Given the description of an element on the screen output the (x, y) to click on. 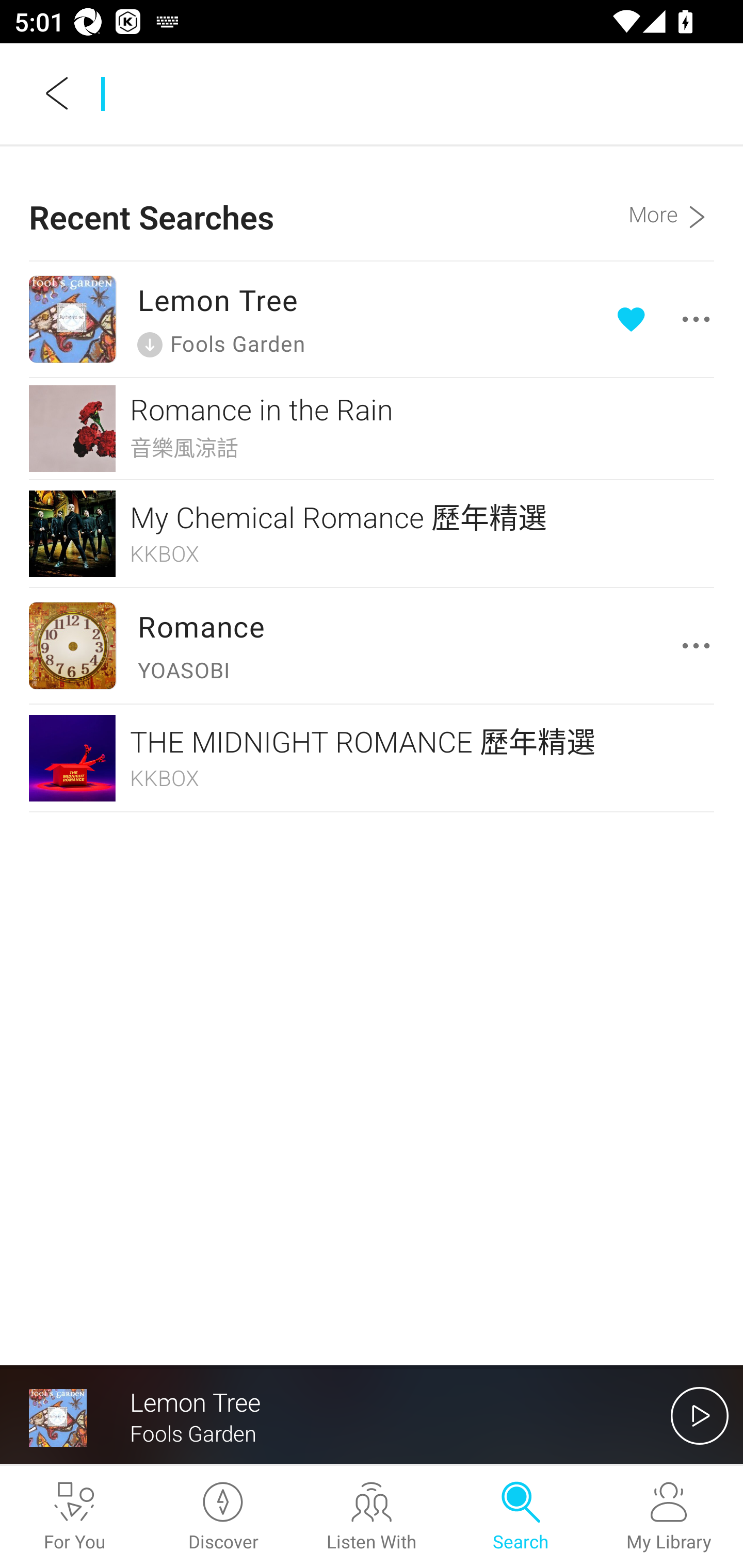
Back,outside of the list (57, 93)
More Recent Searches More (671, 202)
Lemon Tree 已下載 Fools Garden 更多操作選項 (371, 318)
更多操作選項 (667, 318)
Romance in the Rain 音樂風涼話 (371, 428)
My Chemical Romance 歷年精選 KKBOX (371, 532)
Romance YOASOBI 更多操作選項 (371, 646)
更多操作選項 (699, 645)
THE MIDNIGHT ROMANCE 歷年精選 KKBOX (371, 757)
開始播放 (699, 1415)
For You (74, 1517)
Discover (222, 1517)
Listen With (371, 1517)
Search (519, 1517)
My Library (668, 1517)
